Given the description of an element on the screen output the (x, y) to click on. 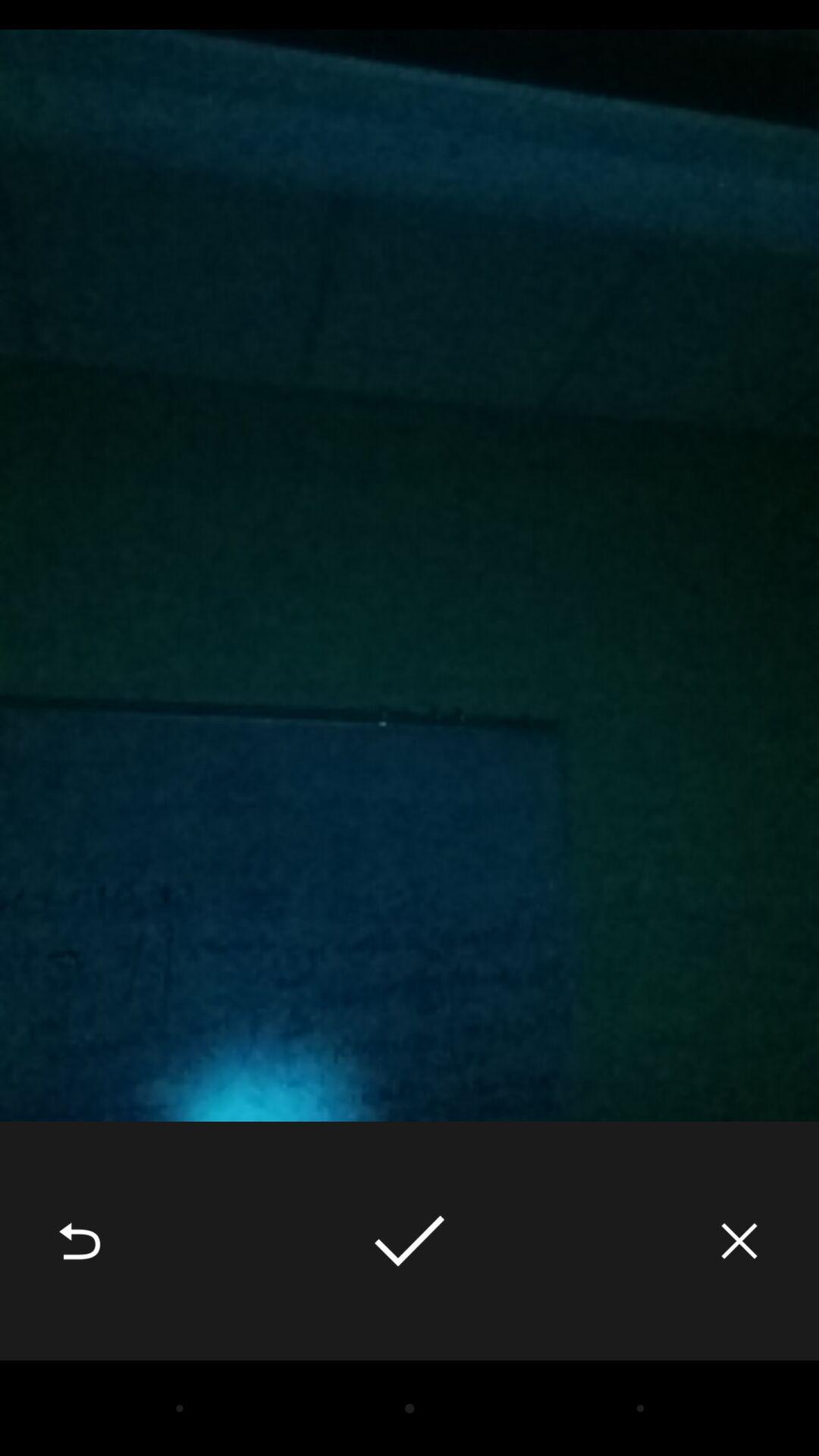
press the item at the bottom left corner (79, 1240)
